Given the description of an element on the screen output the (x, y) to click on. 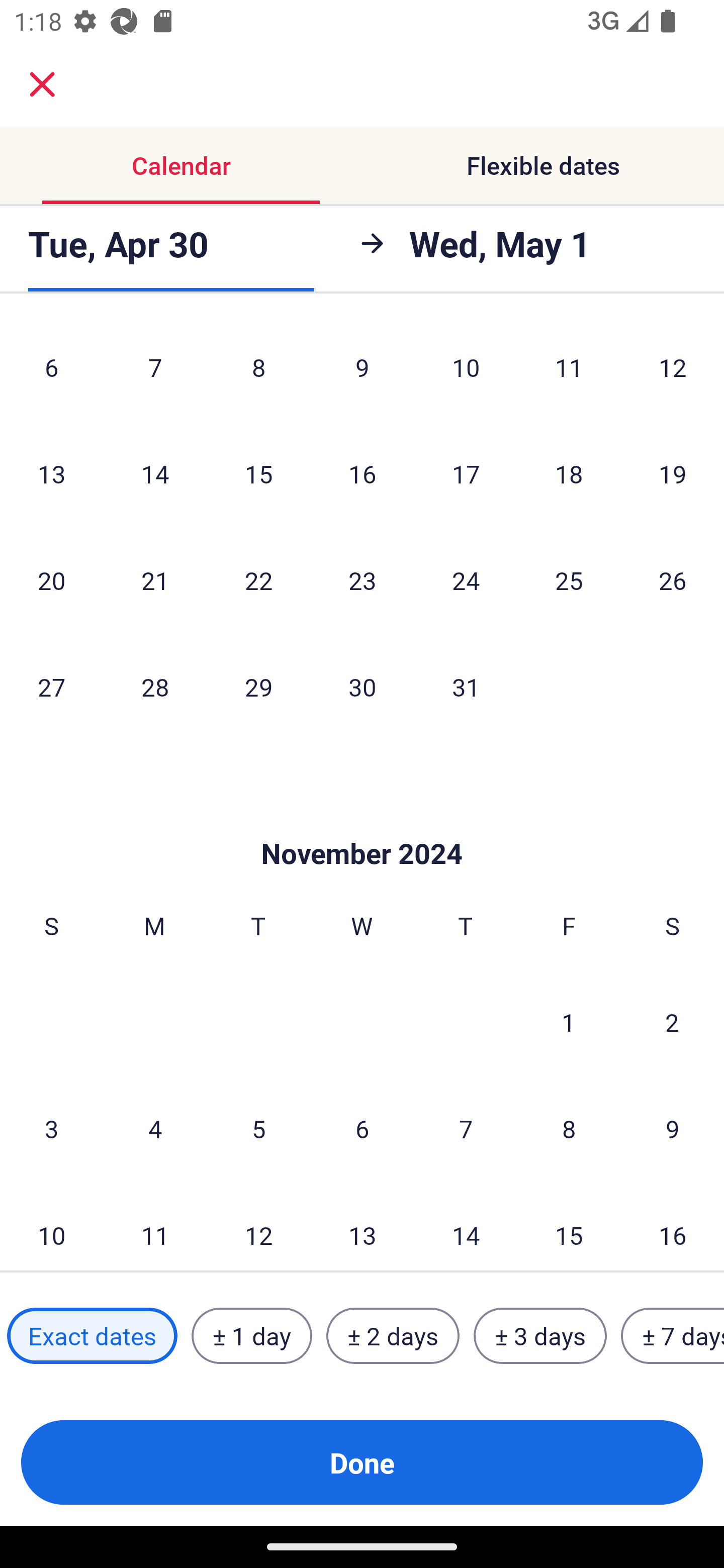
close. (42, 84)
Flexible dates (542, 164)
6 Sunday, October 6, 2024 (51, 369)
7 Monday, October 7, 2024 (155, 369)
8 Tuesday, October 8, 2024 (258, 369)
9 Wednesday, October 9, 2024 (362, 369)
10 Thursday, October 10, 2024 (465, 369)
11 Friday, October 11, 2024 (569, 369)
12 Saturday, October 12, 2024 (672, 369)
13 Sunday, October 13, 2024 (51, 473)
14 Monday, October 14, 2024 (155, 473)
15 Tuesday, October 15, 2024 (258, 473)
16 Wednesday, October 16, 2024 (362, 473)
17 Thursday, October 17, 2024 (465, 473)
18 Friday, October 18, 2024 (569, 473)
19 Saturday, October 19, 2024 (672, 473)
20 Sunday, October 20, 2024 (51, 579)
21 Monday, October 21, 2024 (155, 579)
22 Tuesday, October 22, 2024 (258, 579)
23 Wednesday, October 23, 2024 (362, 579)
24 Thursday, October 24, 2024 (465, 579)
25 Friday, October 25, 2024 (569, 579)
26 Saturday, October 26, 2024 (672, 579)
27 Sunday, October 27, 2024 (51, 686)
28 Monday, October 28, 2024 (155, 686)
29 Tuesday, October 29, 2024 (258, 686)
30 Wednesday, October 30, 2024 (362, 686)
31 Thursday, October 31, 2024 (465, 686)
Skip to Done (362, 822)
1 Friday, November 1, 2024 (568, 1022)
2 Saturday, November 2, 2024 (672, 1022)
3 Sunday, November 3, 2024 (51, 1128)
4 Monday, November 4, 2024 (155, 1128)
5 Tuesday, November 5, 2024 (258, 1128)
6 Wednesday, November 6, 2024 (362, 1128)
7 Thursday, November 7, 2024 (465, 1128)
8 Friday, November 8, 2024 (569, 1128)
9 Saturday, November 9, 2024 (672, 1128)
10 Sunday, November 10, 2024 (51, 1226)
11 Monday, November 11, 2024 (155, 1226)
12 Tuesday, November 12, 2024 (258, 1226)
13 Wednesday, November 13, 2024 (362, 1226)
14 Thursday, November 14, 2024 (465, 1226)
15 Friday, November 15, 2024 (569, 1226)
16 Saturday, November 16, 2024 (672, 1226)
Exact dates (92, 1335)
± 1 day (251, 1335)
± 2 days (392, 1335)
± 3 days (539, 1335)
± 7 days (672, 1335)
Done (361, 1462)
